Given the description of an element on the screen output the (x, y) to click on. 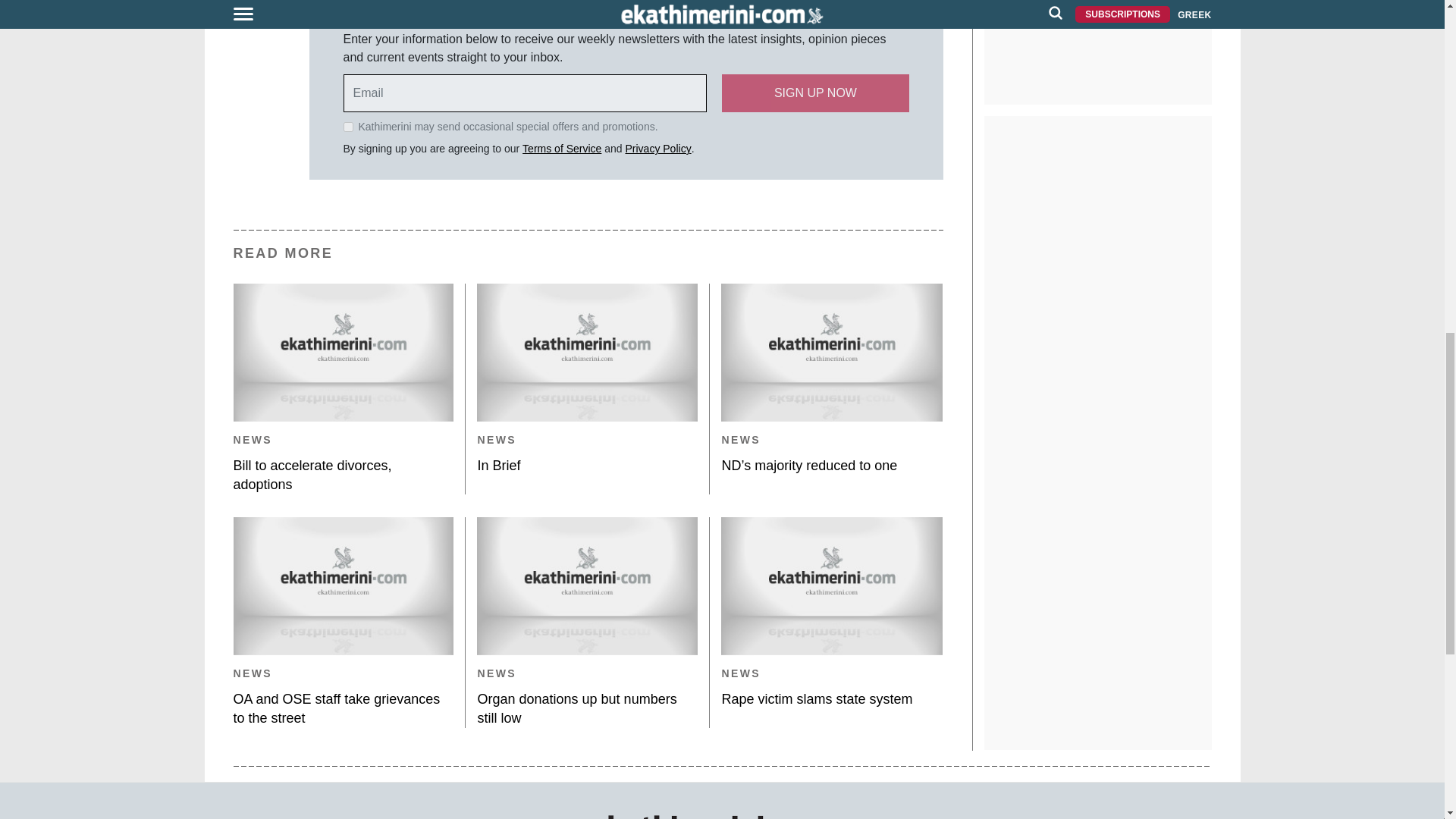
on (347, 126)
